Given the description of an element on the screen output the (x, y) to click on. 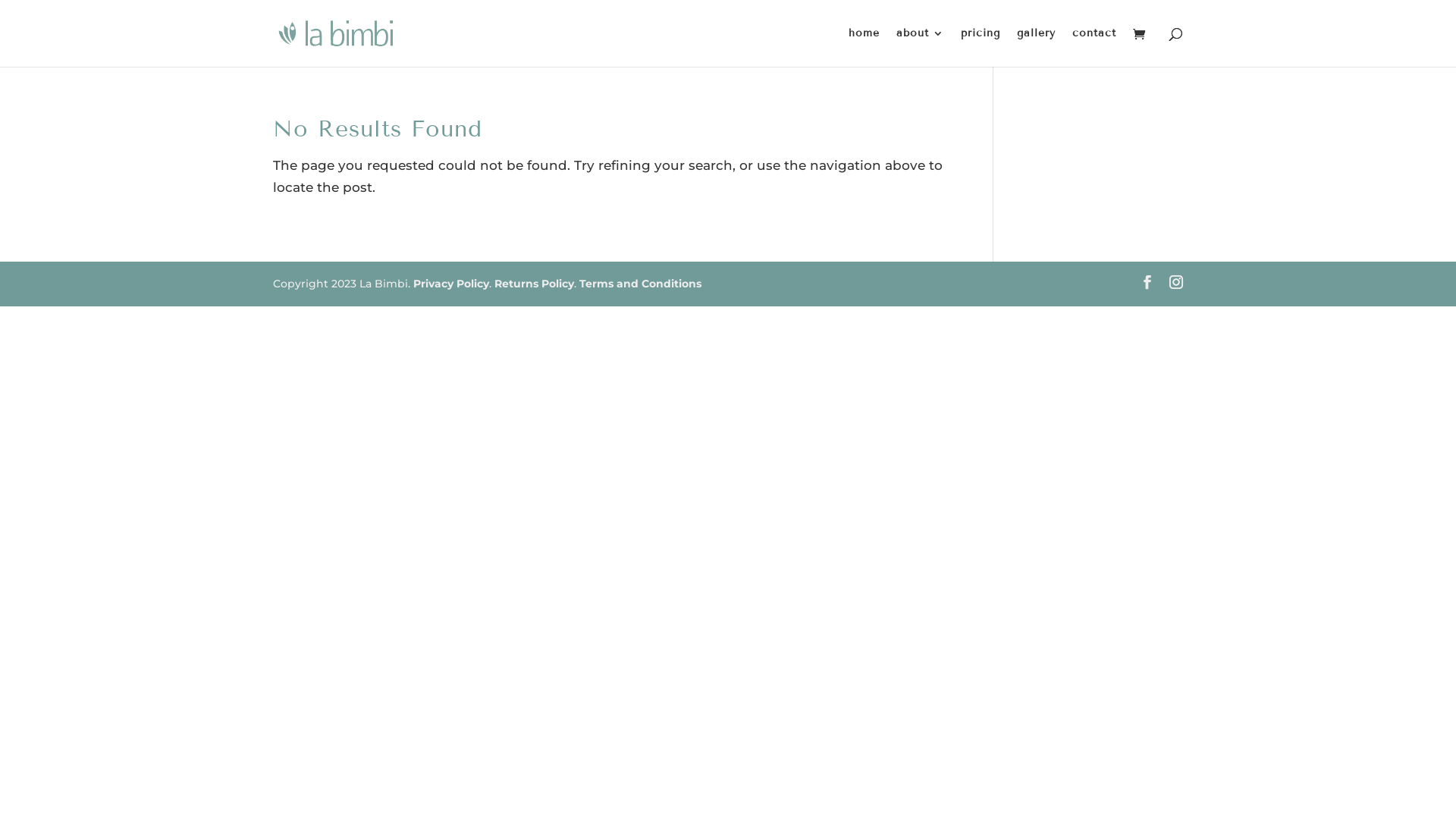
Terms and Conditions Element type: text (640, 283)
pricing Element type: text (980, 47)
contact Element type: text (1094, 47)
Privacy Policy Element type: text (451, 283)
gallery Element type: text (1035, 47)
about Element type: text (920, 47)
Returns Policy Element type: text (534, 283)
home Element type: text (863, 47)
